Given the description of an element on the screen output the (x, y) to click on. 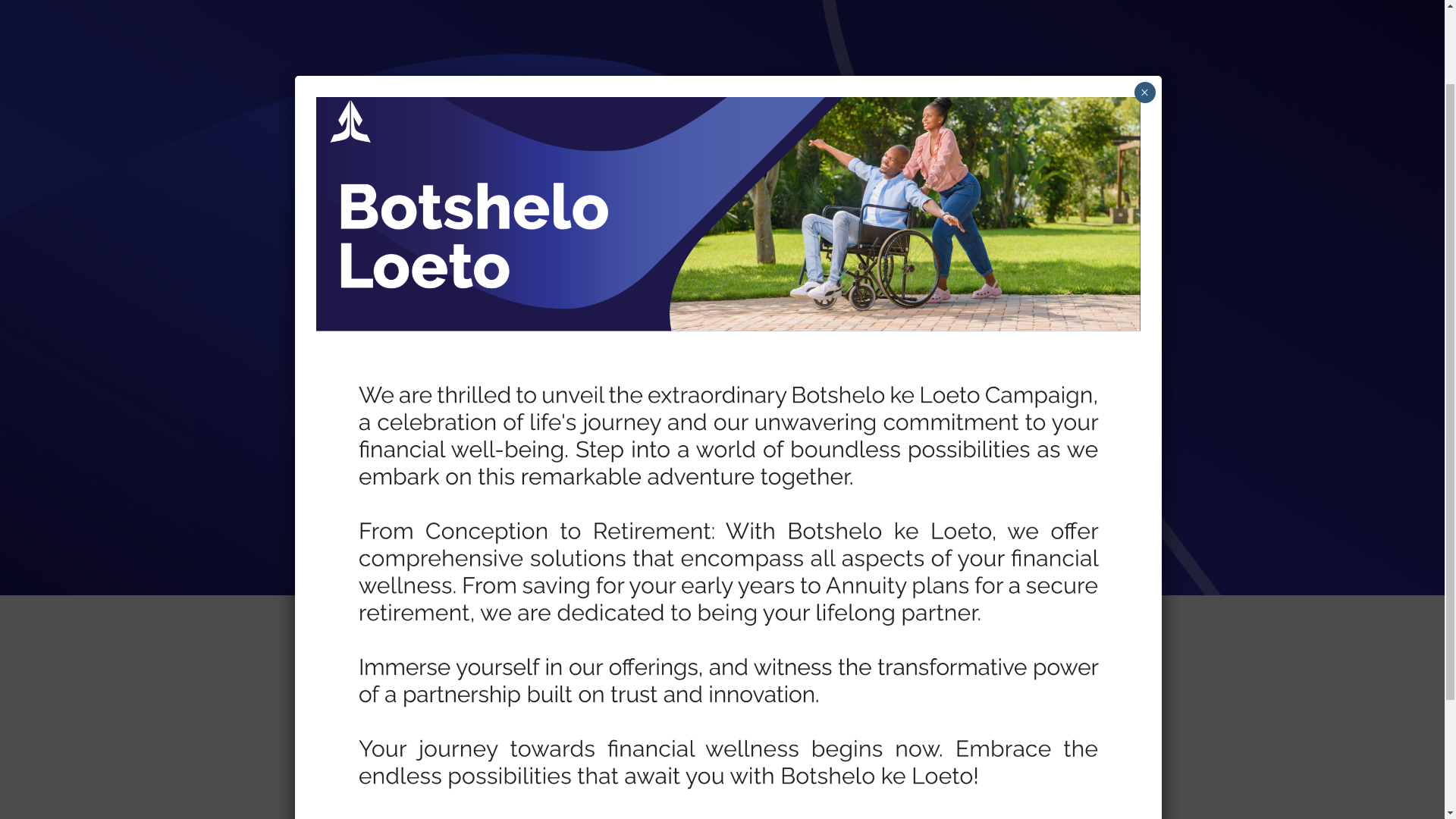
Metropolitan Logo Element type: hover (413, 98)
